Given the description of an element on the screen output the (x, y) to click on. 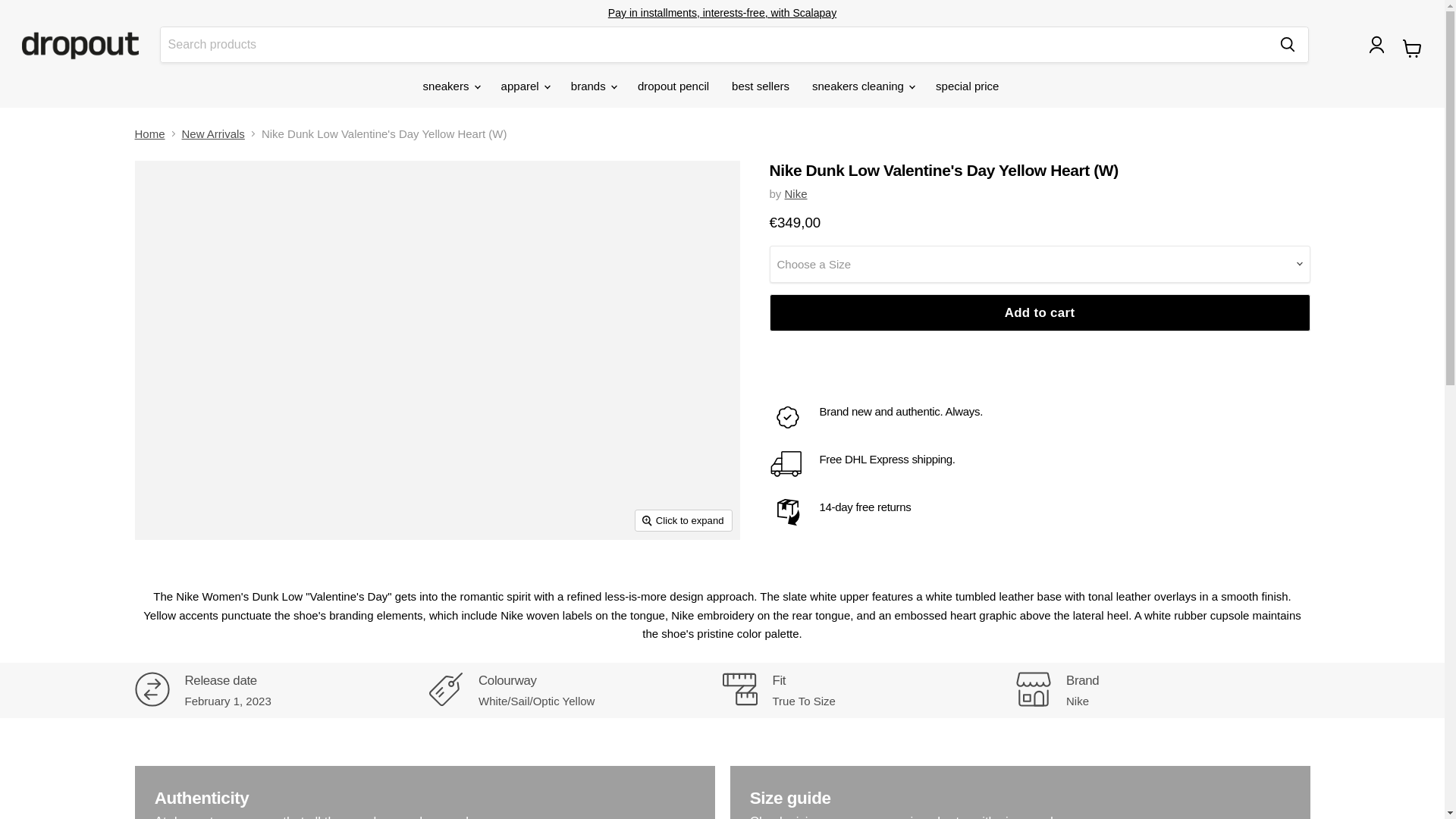
Nike (796, 193)
View cart (1411, 48)
